Given the description of an element on the screen output the (x, y) to click on. 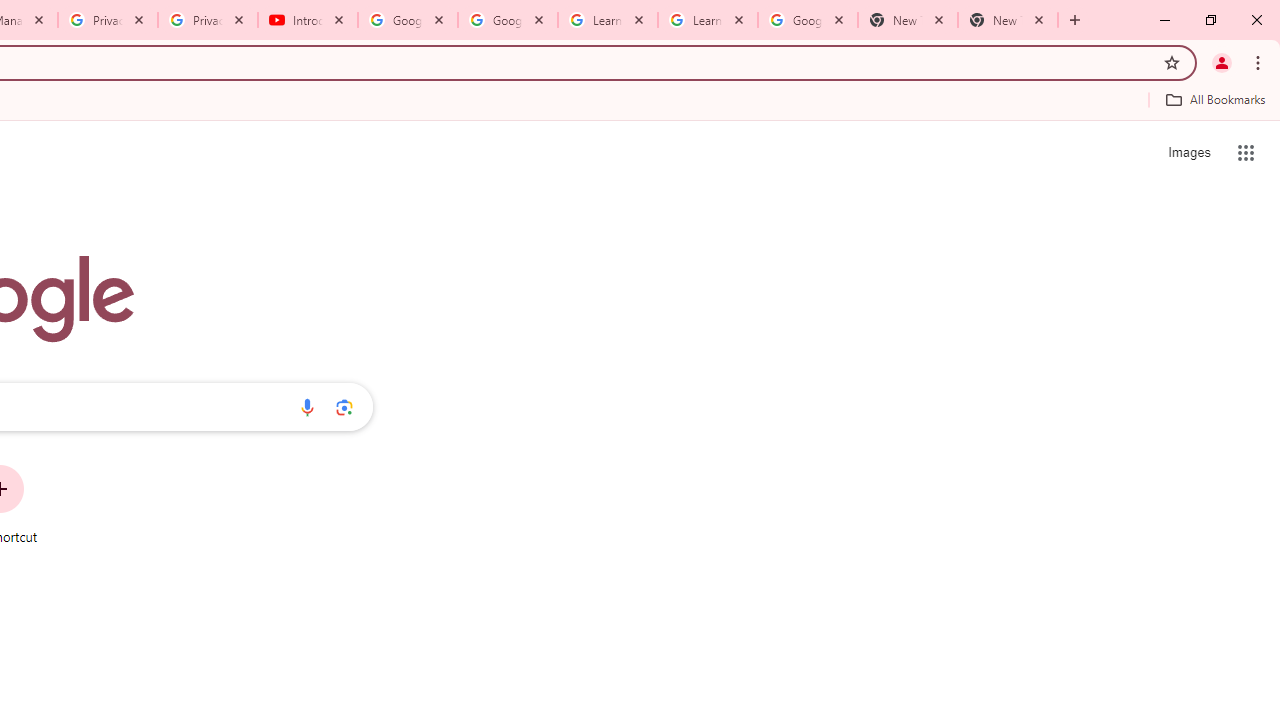
Google Account (807, 20)
Google Account Help (408, 20)
Introduction | Google Privacy Policy - YouTube (308, 20)
